Given the description of an element on the screen output the (x, y) to click on. 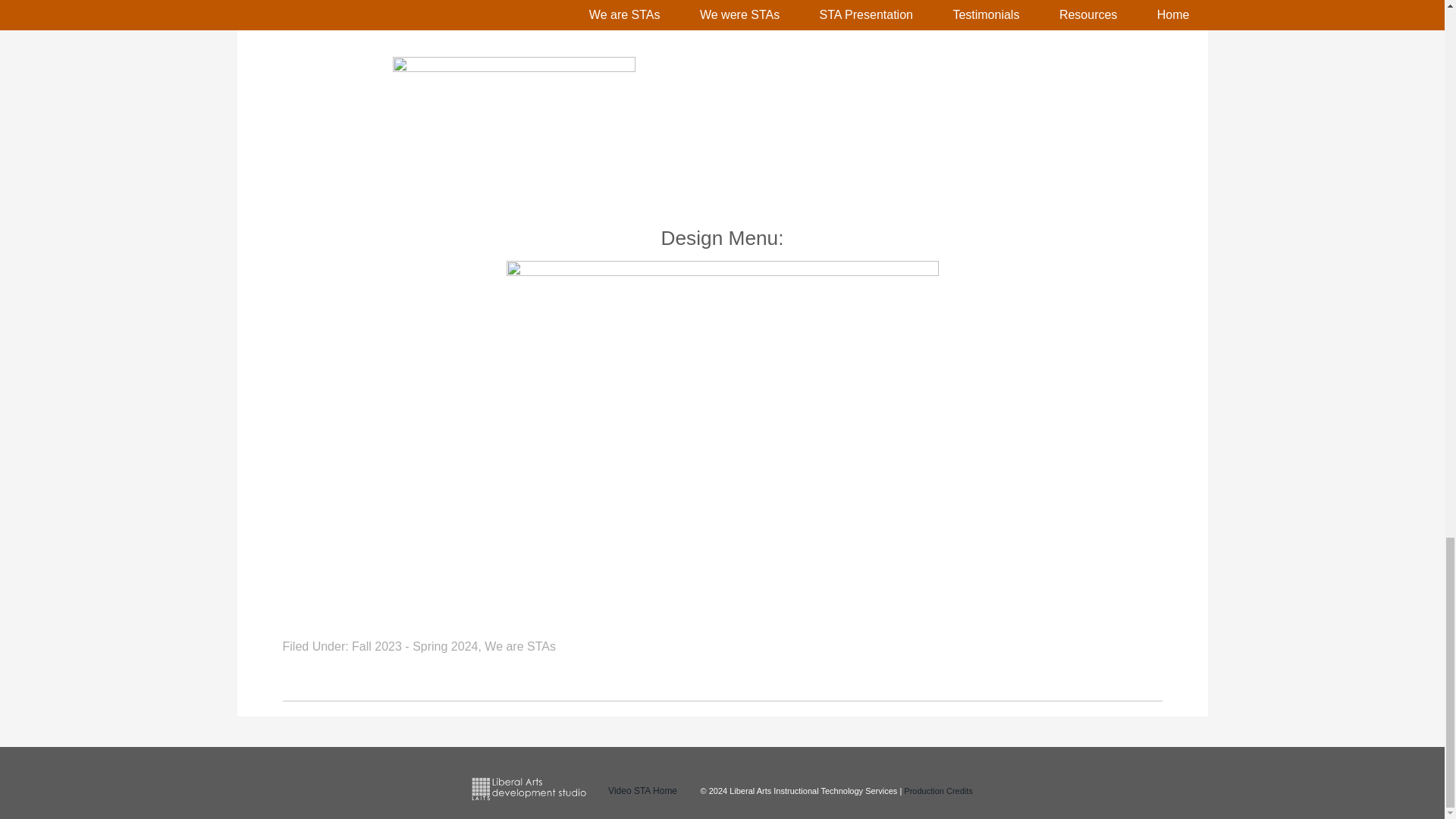
Video STA Home (642, 790)
We are STAs (520, 645)
Production Credits (938, 790)
Fall 2023 - Spring 2024 (414, 645)
